Given the description of an element on the screen output the (x, y) to click on. 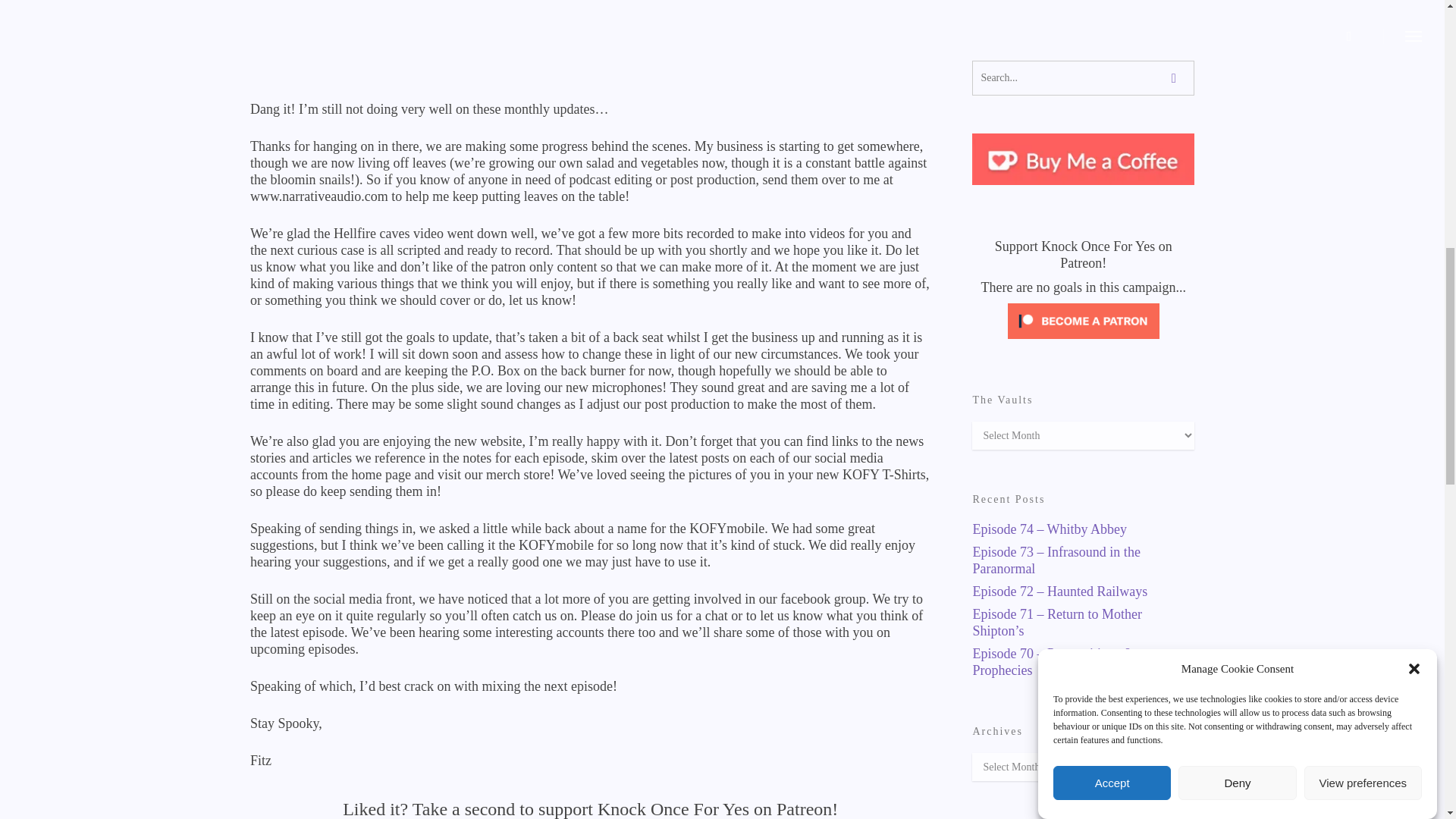
View preferences (1363, 252)
Search for: (1082, 77)
Deny (1236, 283)
Accept (1111, 297)
